Given the description of an element on the screen output the (x, y) to click on. 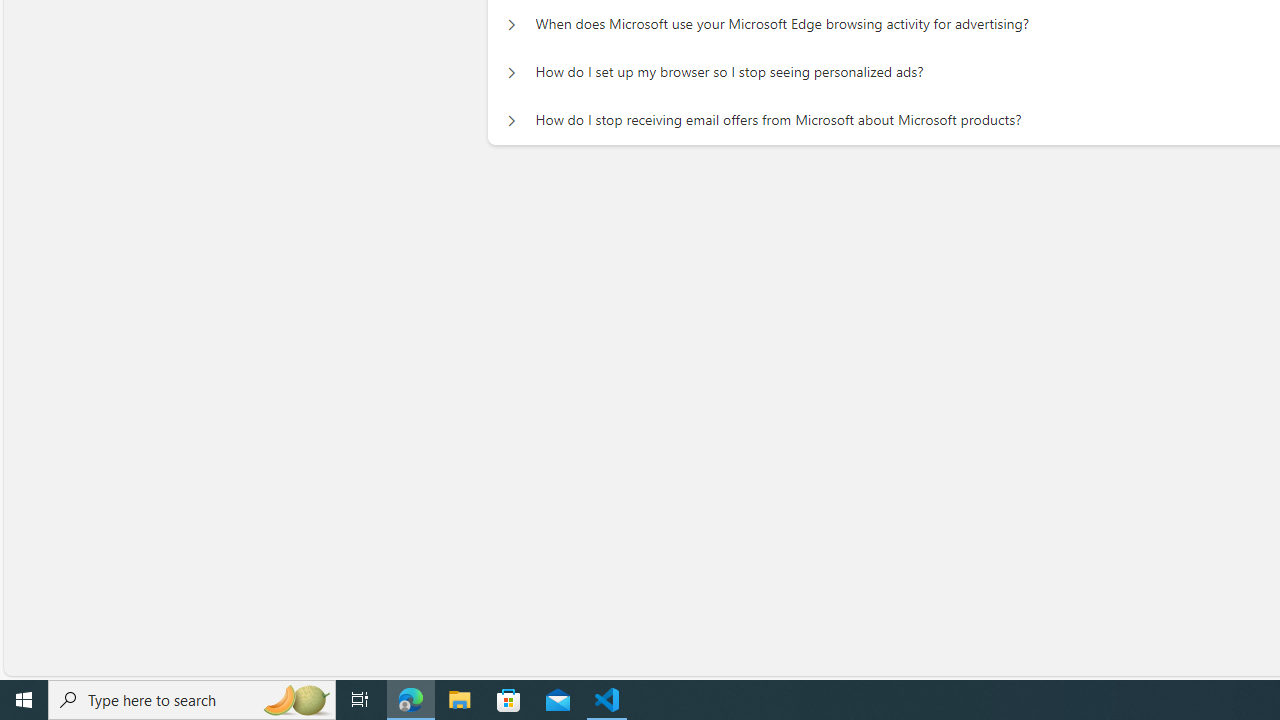
Questions? How does Microsoft deliver personalized ads? (511, 157)
Questions? What are personalized ads? (511, 62)
Questions? Why does Microsoft show personalized ads? (511, 110)
